Given the description of an element on the screen output the (x, y) to click on. 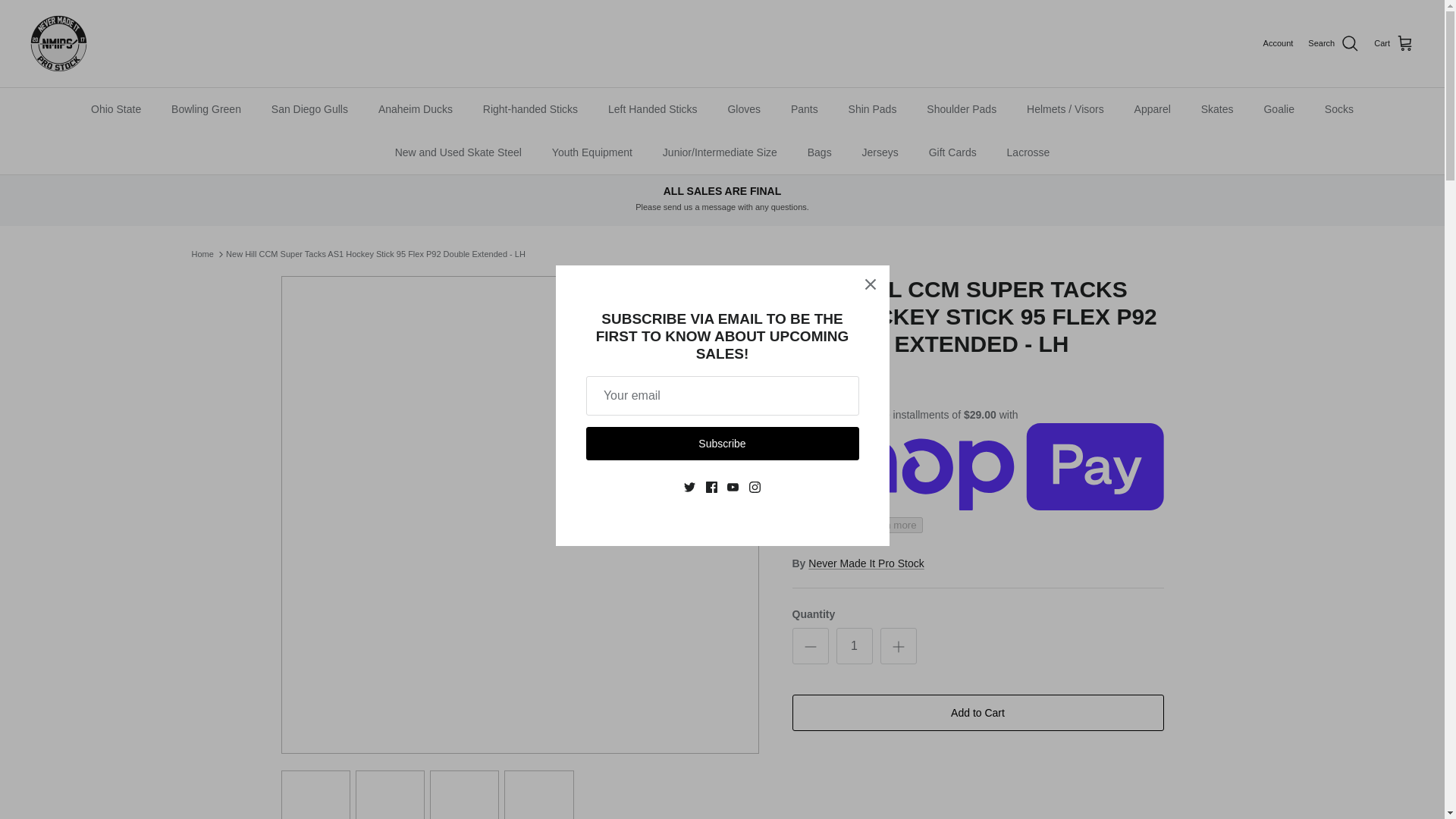
Never Made It Pro Stock (58, 43)
Plus (897, 647)
Minus (809, 647)
Ohio State (115, 109)
1 (853, 646)
Bowling Green (205, 109)
Right-handed Sticks (529, 109)
Right (741, 514)
Anaheim Ducks (415, 109)
Account (1278, 43)
Pants (804, 109)
Gloves (743, 109)
Cart (1393, 43)
Left Handed Sticks (652, 109)
San Diego Gulls (309, 109)
